Given the description of an element on the screen output the (x, y) to click on. 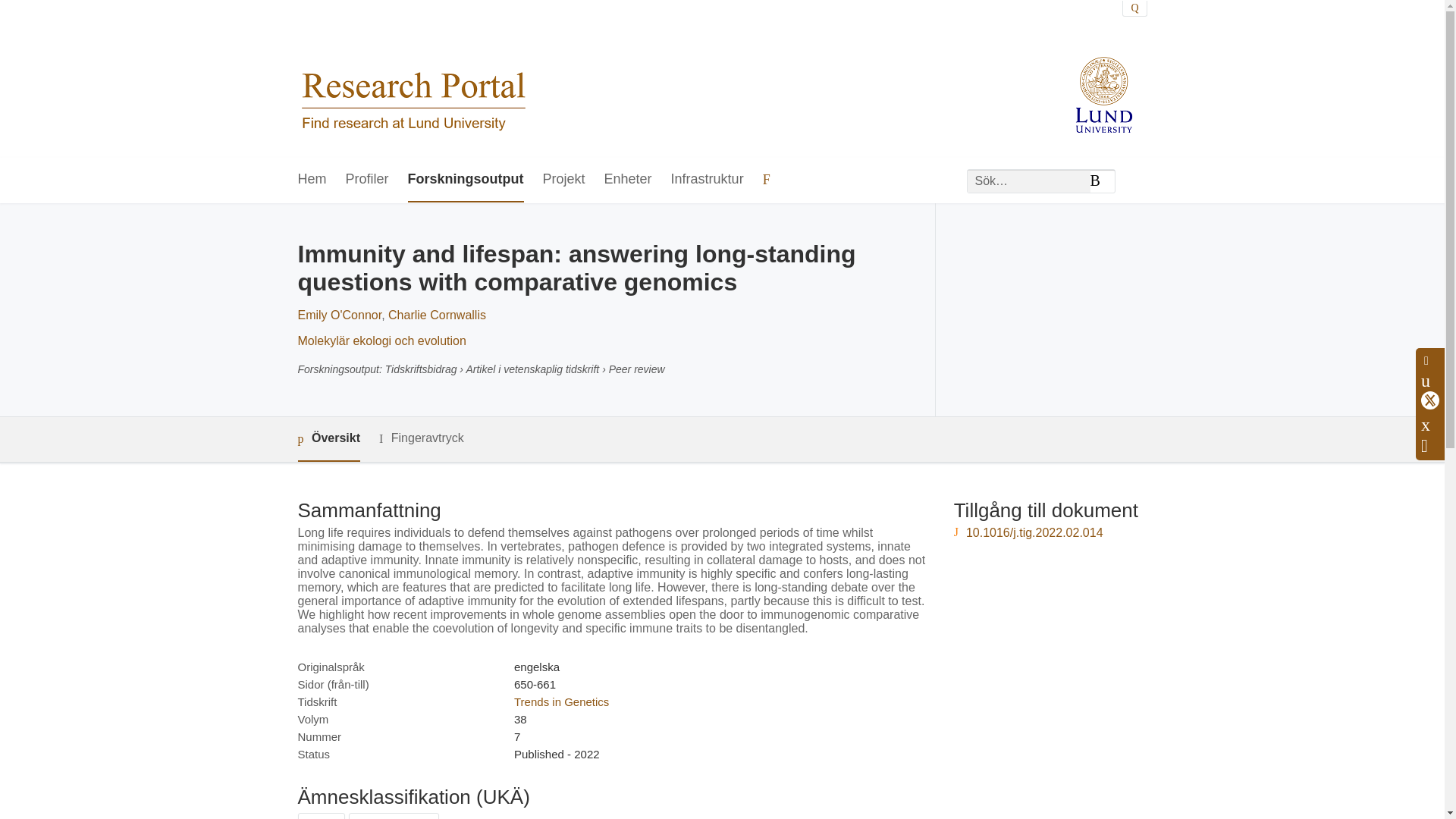
Charlie Cornwallis (437, 314)
Enheter (628, 180)
Profiler (367, 180)
Forskningsoutput (465, 180)
Trends in Genetics (560, 701)
Emily O'Connor (339, 314)
Fingeravtryck (421, 438)
Hem (311, 180)
Lunds universitet Hem (412, 78)
Projekt (564, 180)
Infrastruktur (707, 180)
